Given the description of an element on the screen output the (x, y) to click on. 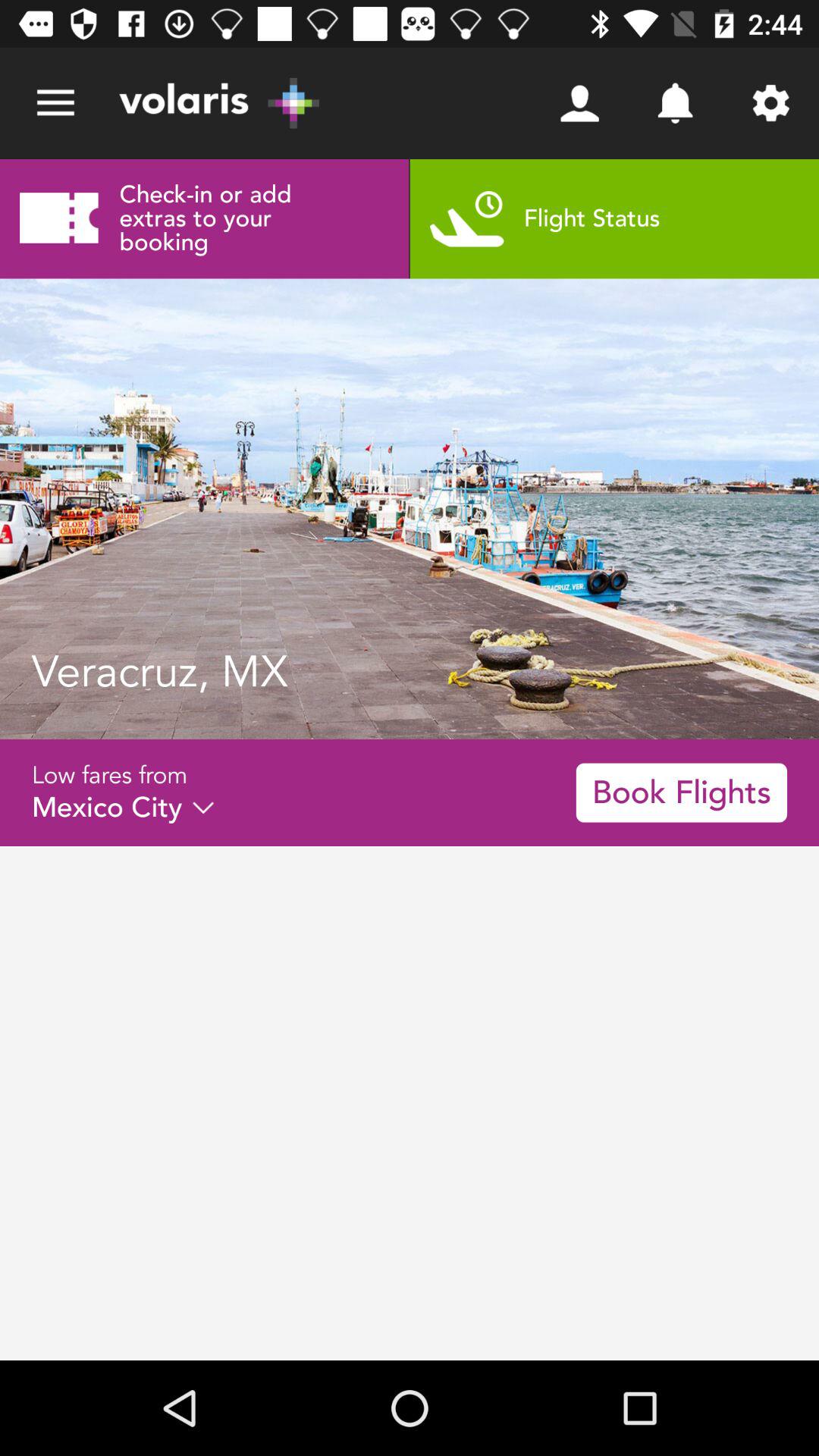
go to top right corner (771, 103)
select text volaris which is after the menu symbol (219, 103)
select the text  under the low fares from (122, 807)
click on the icon which is at the left side of the text flight status (466, 218)
